Given the description of an element on the screen output the (x, y) to click on. 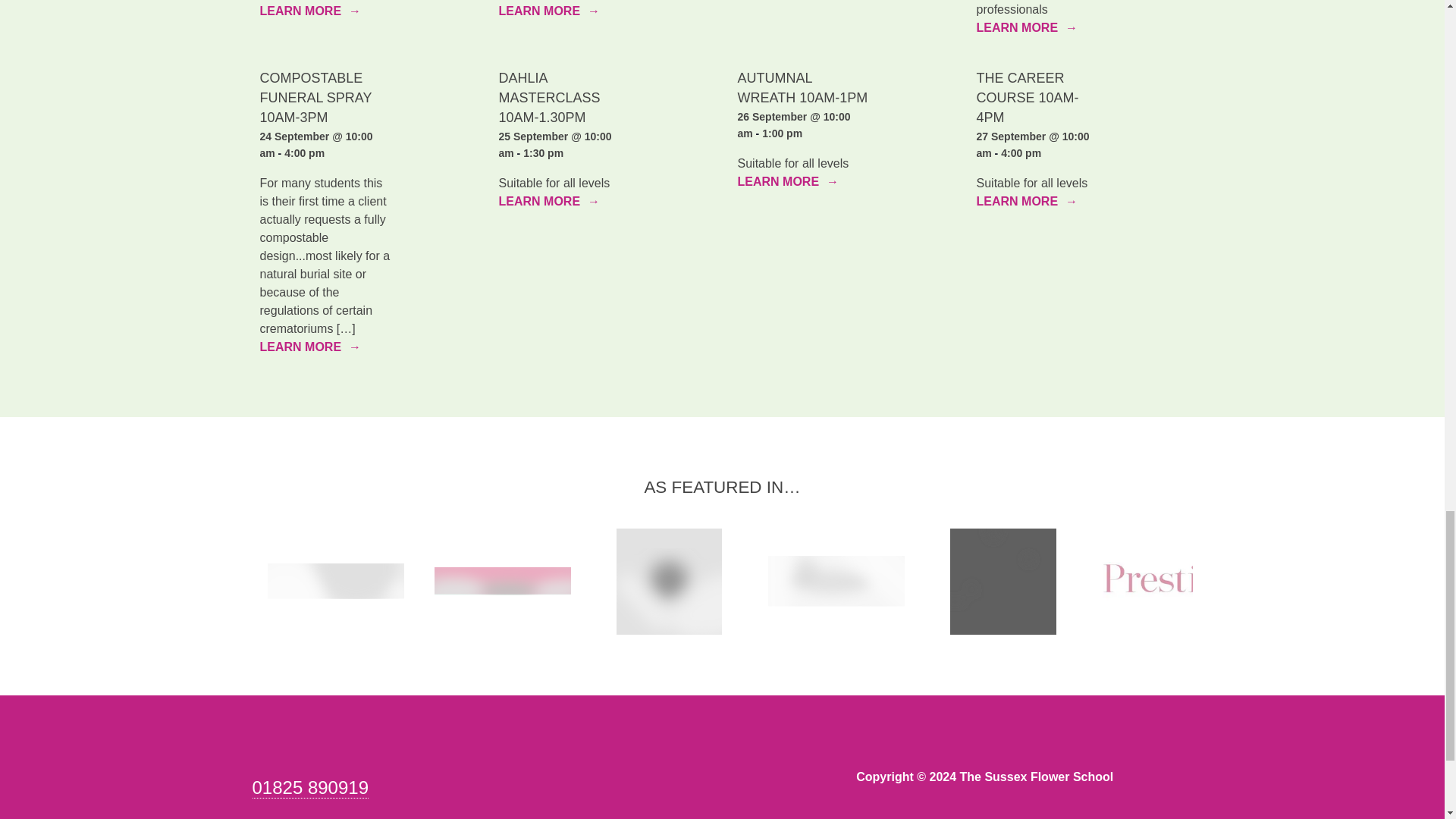
LEARN MORE (310, 11)
LEARN MORE (549, 11)
